Given the description of an element on the screen output the (x, y) to click on. 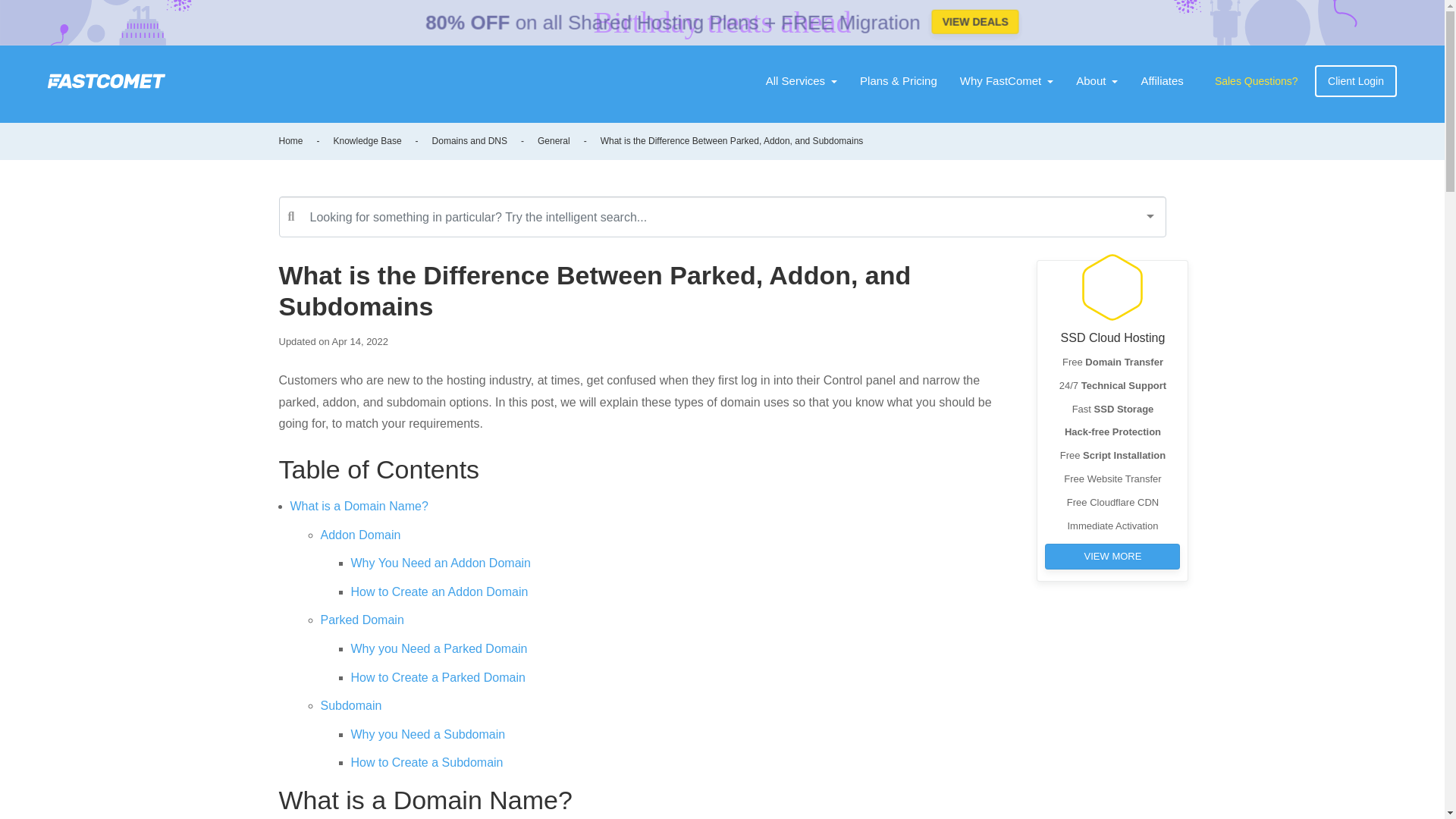
Affiliates (1161, 81)
fastcomet-logo-white (106, 80)
fastcomet-logo-white (106, 81)
Why FastComet (1007, 81)
All Services (801, 81)
About (1096, 81)
